Given the description of an element on the screen output the (x, y) to click on. 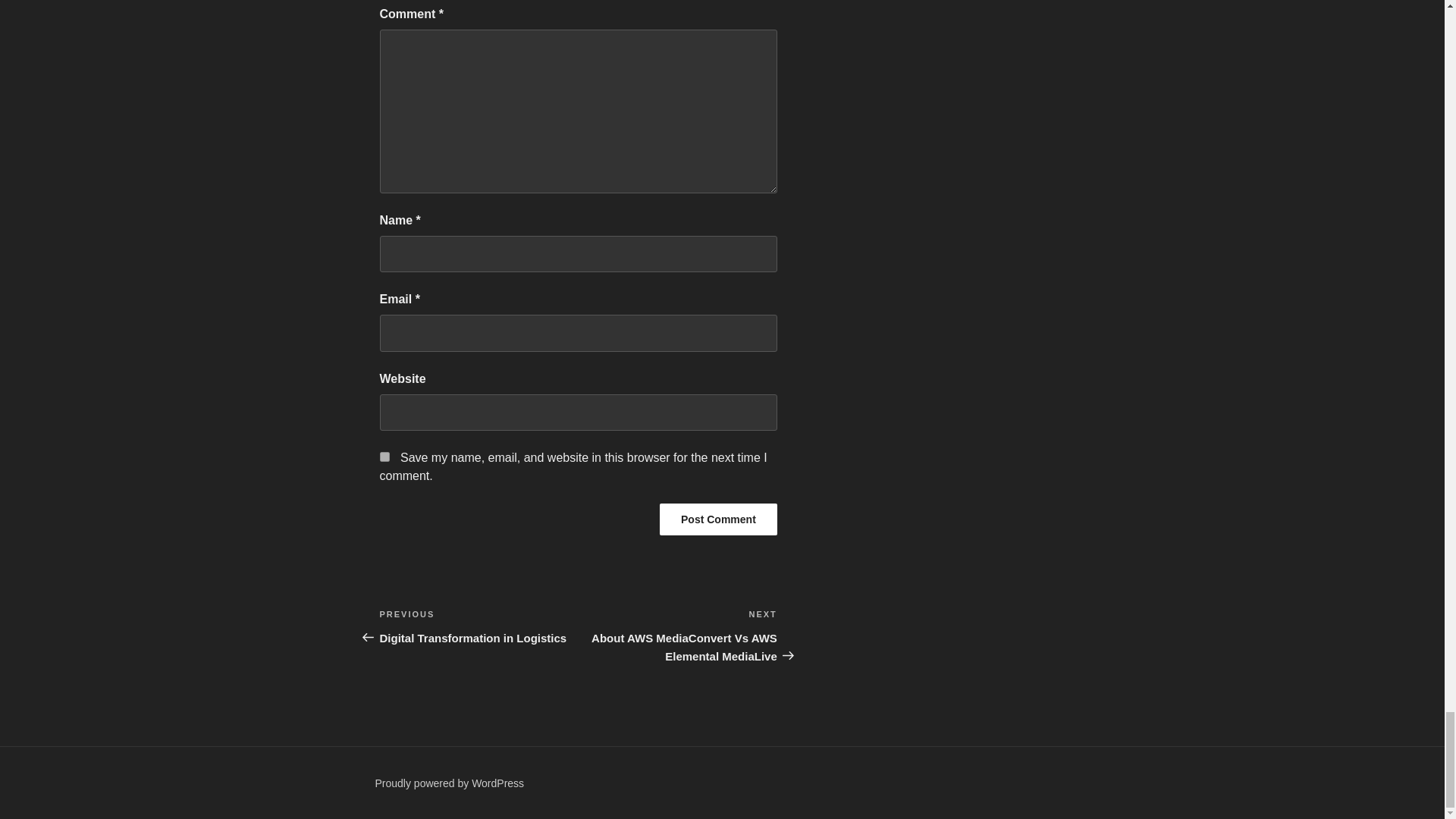
Post Comment (718, 519)
Post Comment (478, 626)
yes (718, 519)
